Given the description of an element on the screen output the (x, y) to click on. 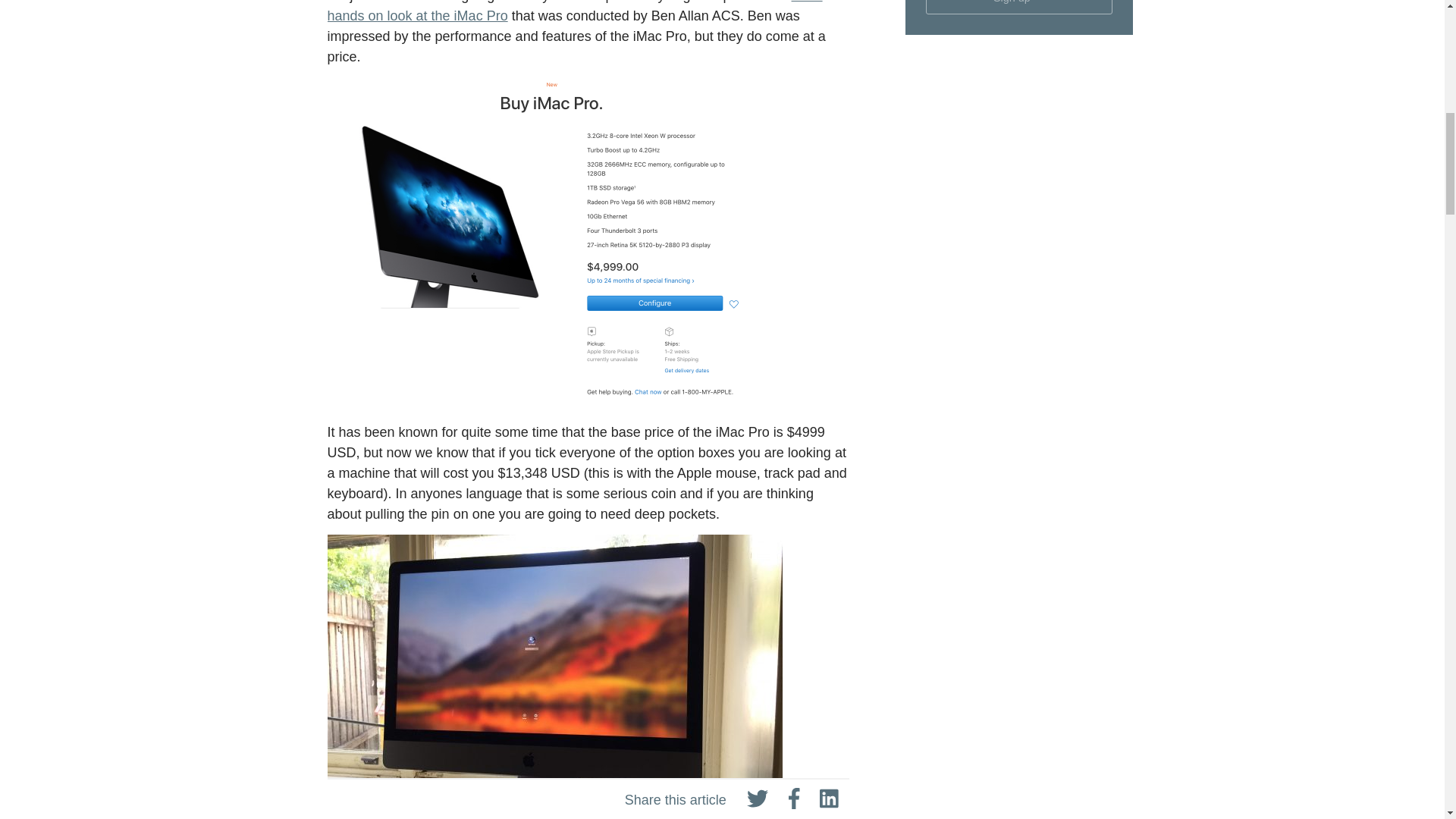
3rd party ad content (1018, 752)
initial hands on look at the iMac Pro (574, 11)
3rd party ad content (1018, 570)
3rd party ad content (1018, 149)
3rd party ad content (1018, 360)
